Given the description of an element on the screen output the (x, y) to click on. 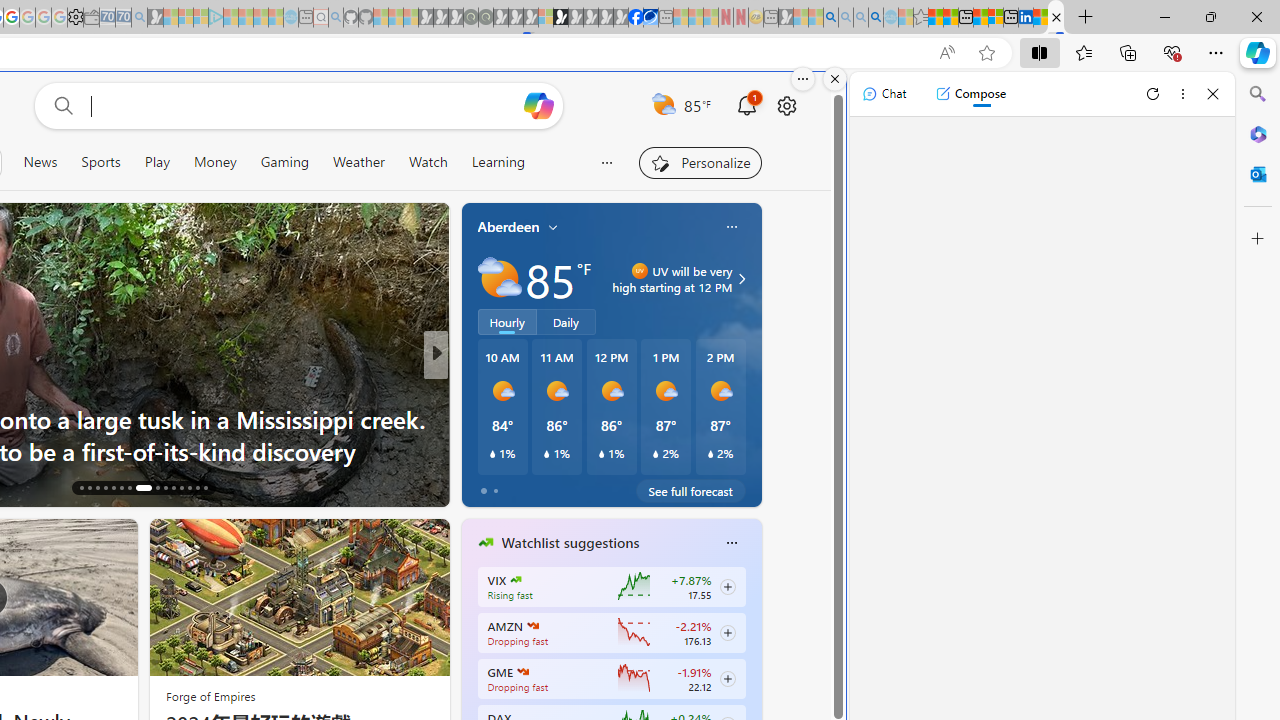
More options. (803, 79)
Learning (497, 161)
Open Copilot (539, 105)
StarsInsider (477, 418)
Money (214, 161)
Notifications (745, 105)
Partly sunny (499, 278)
72 Like (487, 486)
View comments 6 Comment (574, 485)
